Given the description of an element on the screen output the (x, y) to click on. 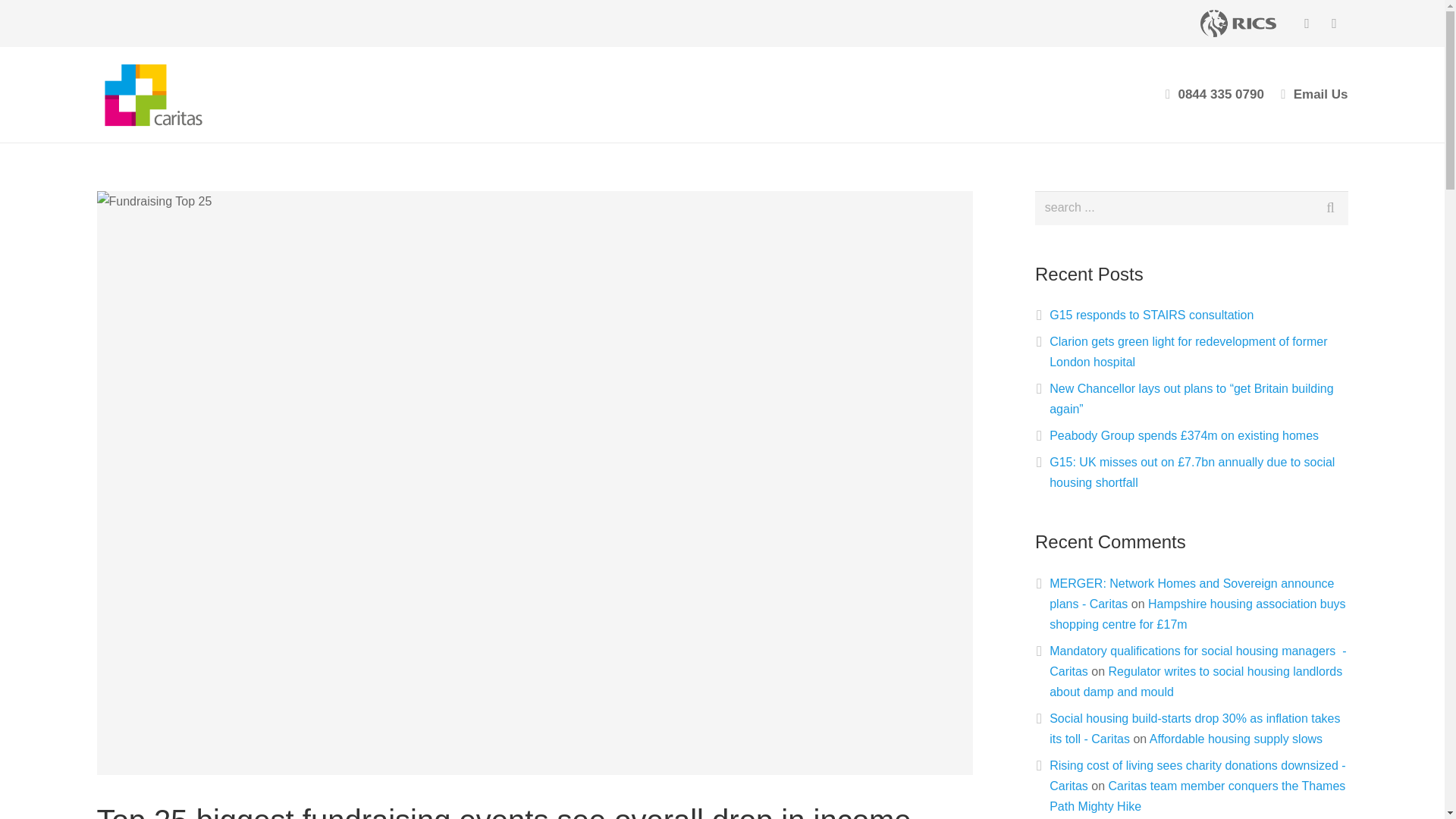
Affordable housing supply slows (1236, 738)
Caritas team member conquers the Thames Path Mighty Hike (1197, 796)
MERGER: Network Homes and Sovereign announce plans - Caritas (1191, 593)
Email Us (1321, 93)
G15 responds to STAIRS consultation (1151, 314)
